Given the description of an element on the screen output the (x, y) to click on. 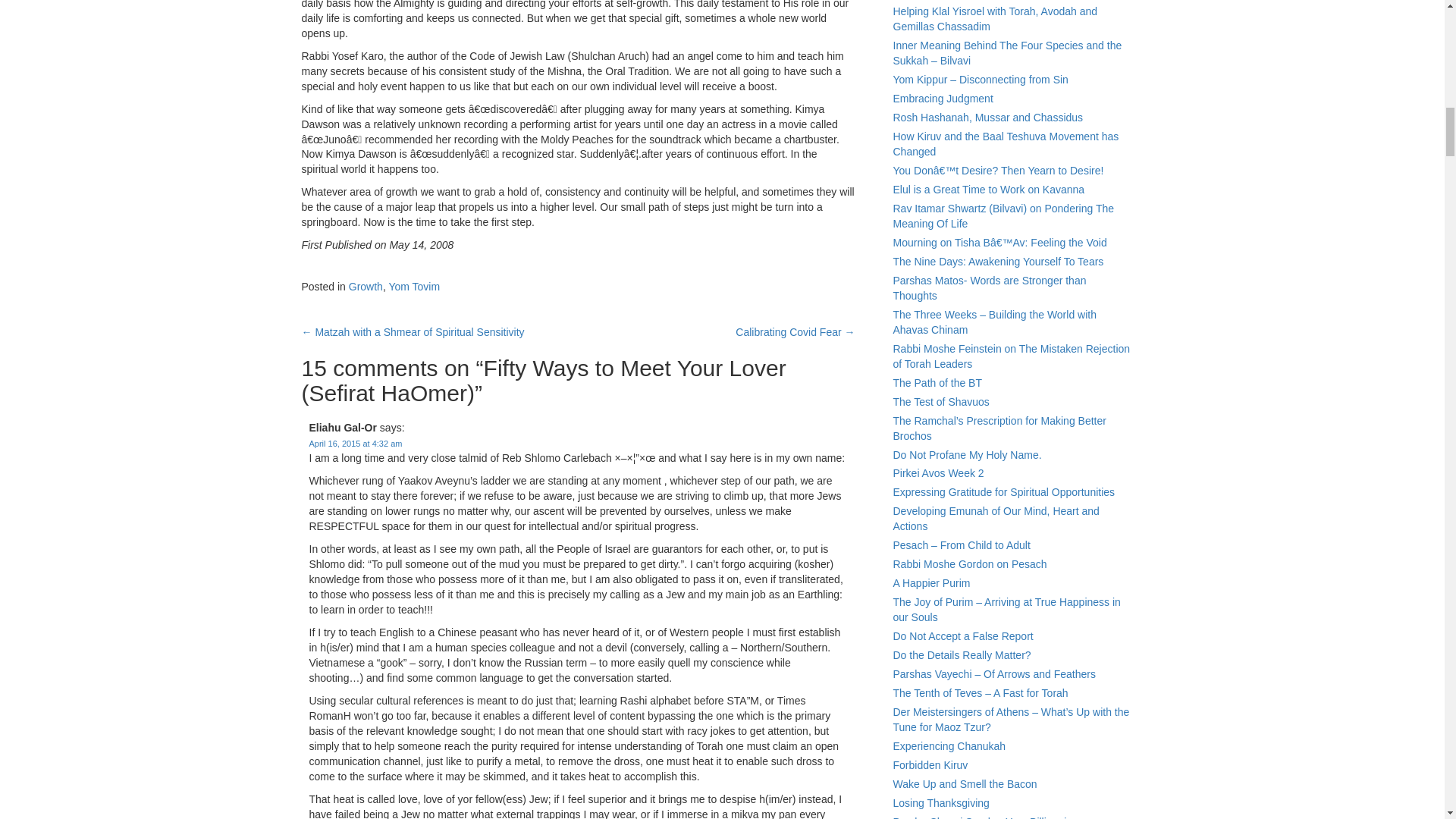
April 16, 2015 at 4:32 am (355, 442)
Growth (365, 286)
Yom Tovim (413, 286)
